Given the description of an element on the screen output the (x, y) to click on. 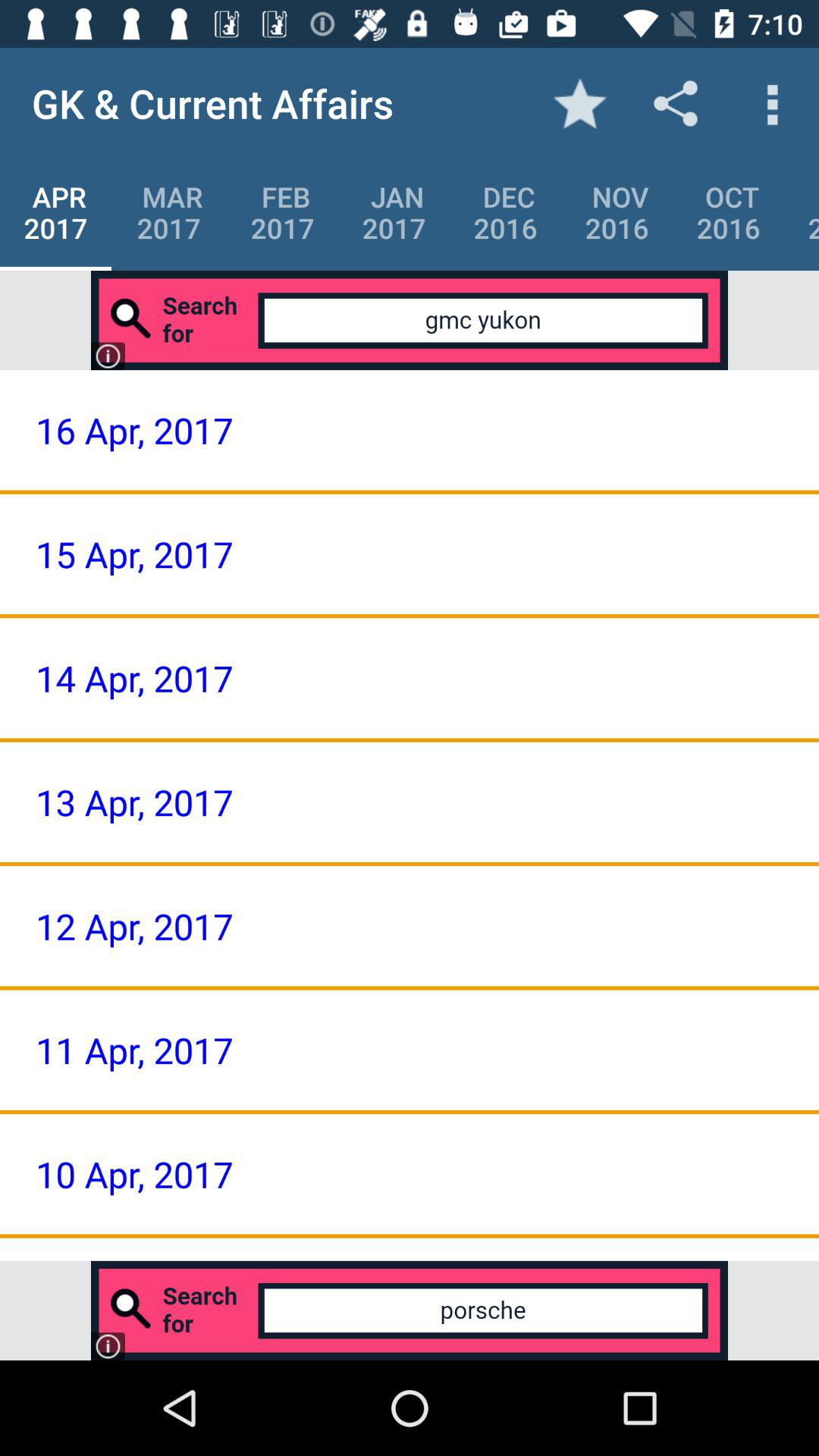
press icon above the  oct
2016 icon (771, 103)
